Given the description of an element on the screen output the (x, y) to click on. 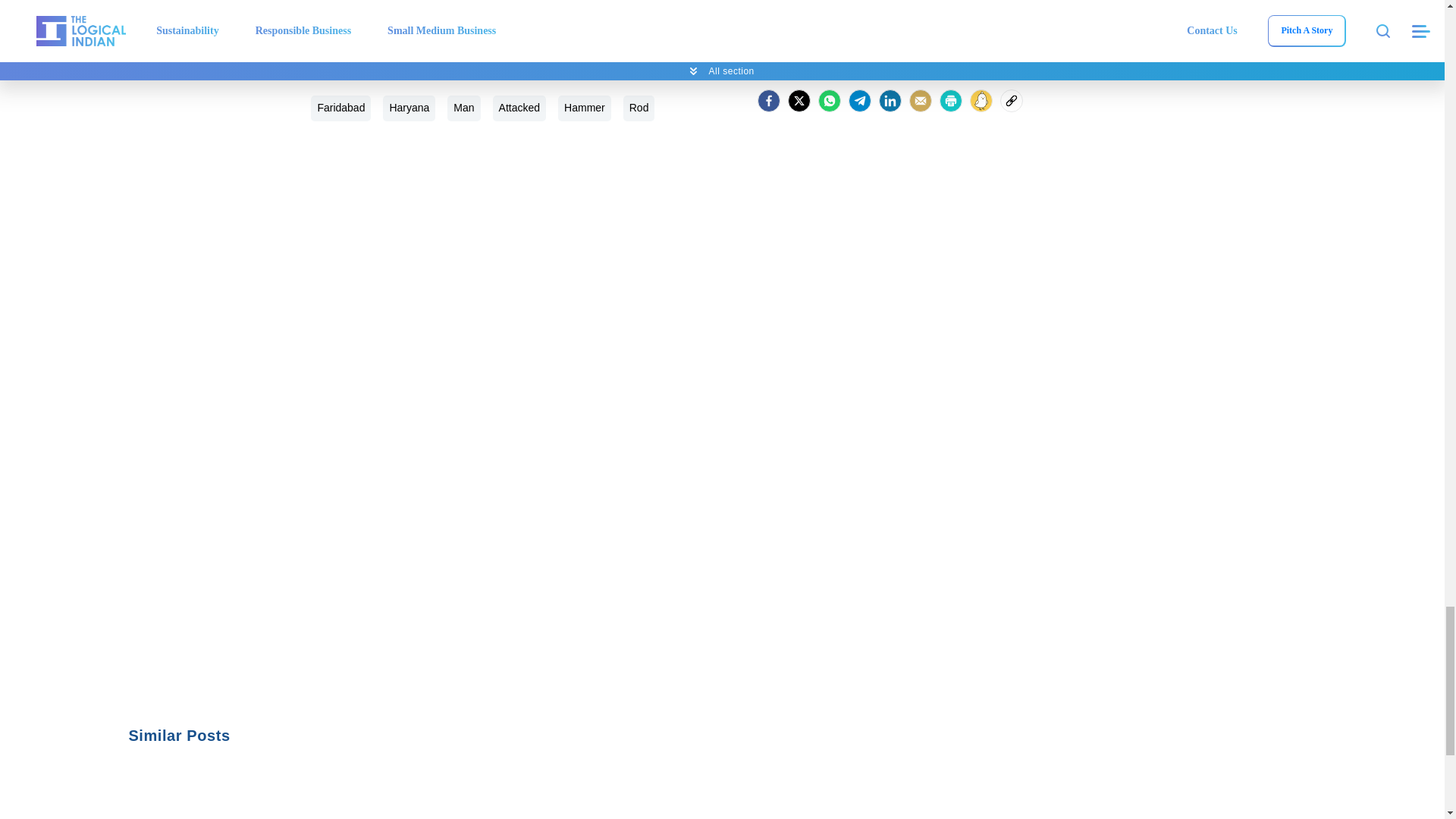
Share by Email (919, 100)
LinkedIn (890, 100)
